Given the description of an element on the screen output the (x, y) to click on. 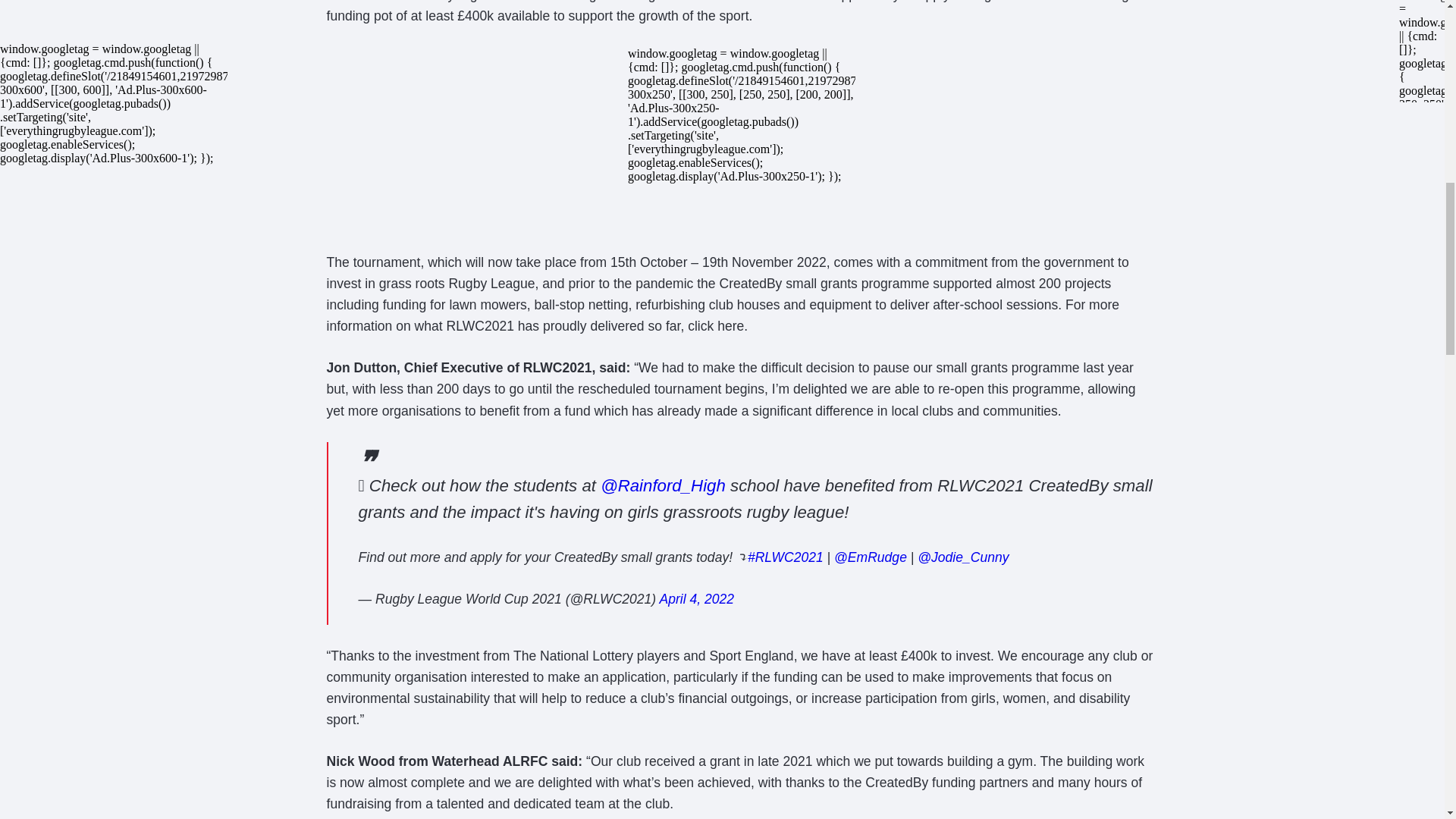
April 4, 2022 (696, 598)
